Given the description of an element on the screen output the (x, y) to click on. 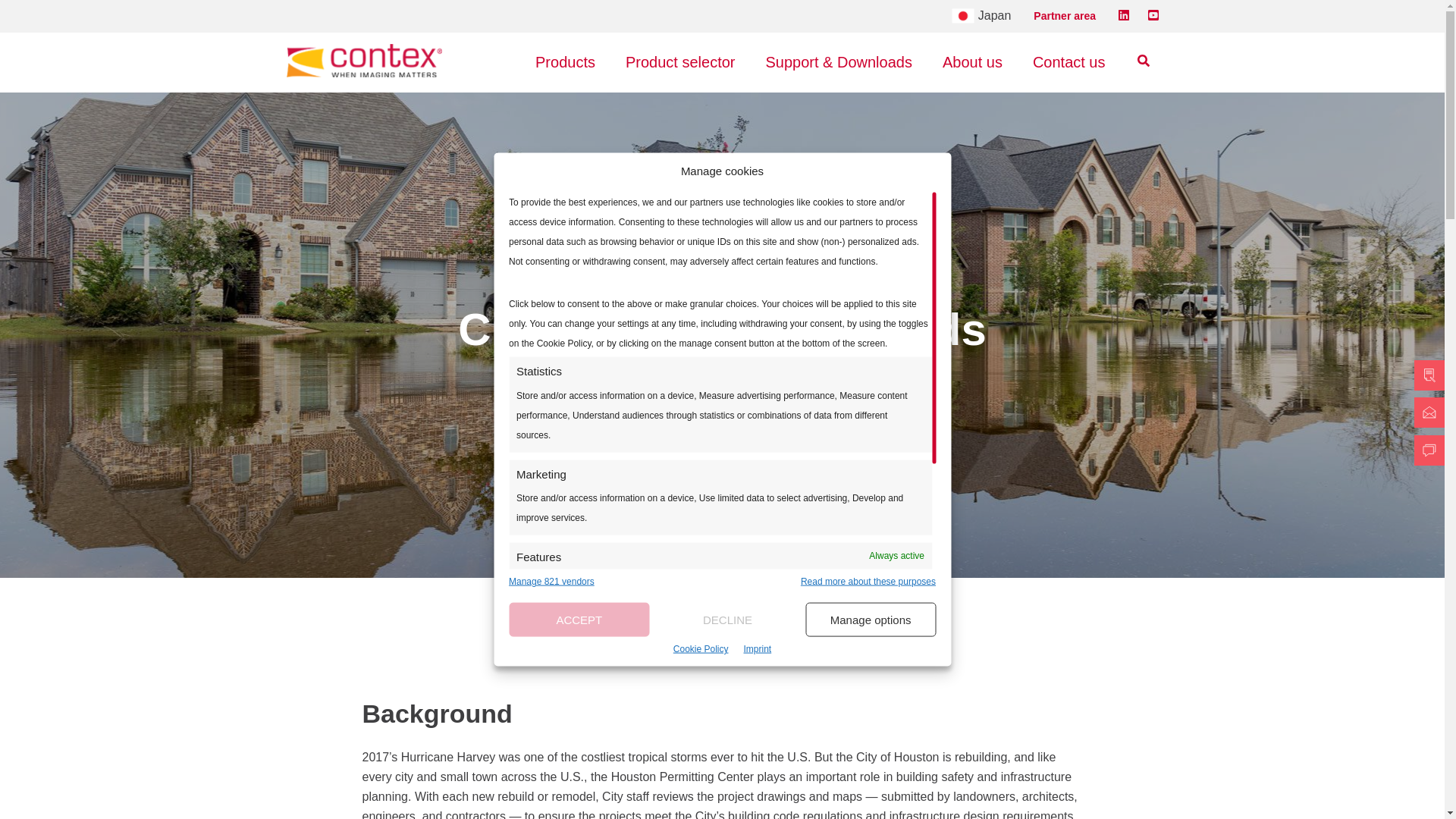
Products (564, 62)
Read more about these purposes (868, 582)
Imprint (756, 649)
ACCEPT (578, 619)
DECLINE (727, 619)
About us (972, 62)
READ THE FULL CASE STUDY (722, 397)
Partner area (1064, 15)
Japan (981, 16)
Cookie Policy (700, 649)
Contact us (1069, 62)
Manage 821 vendors (551, 582)
Manage options (870, 619)
Product selector (679, 62)
